Given the description of an element on the screen output the (x, y) to click on. 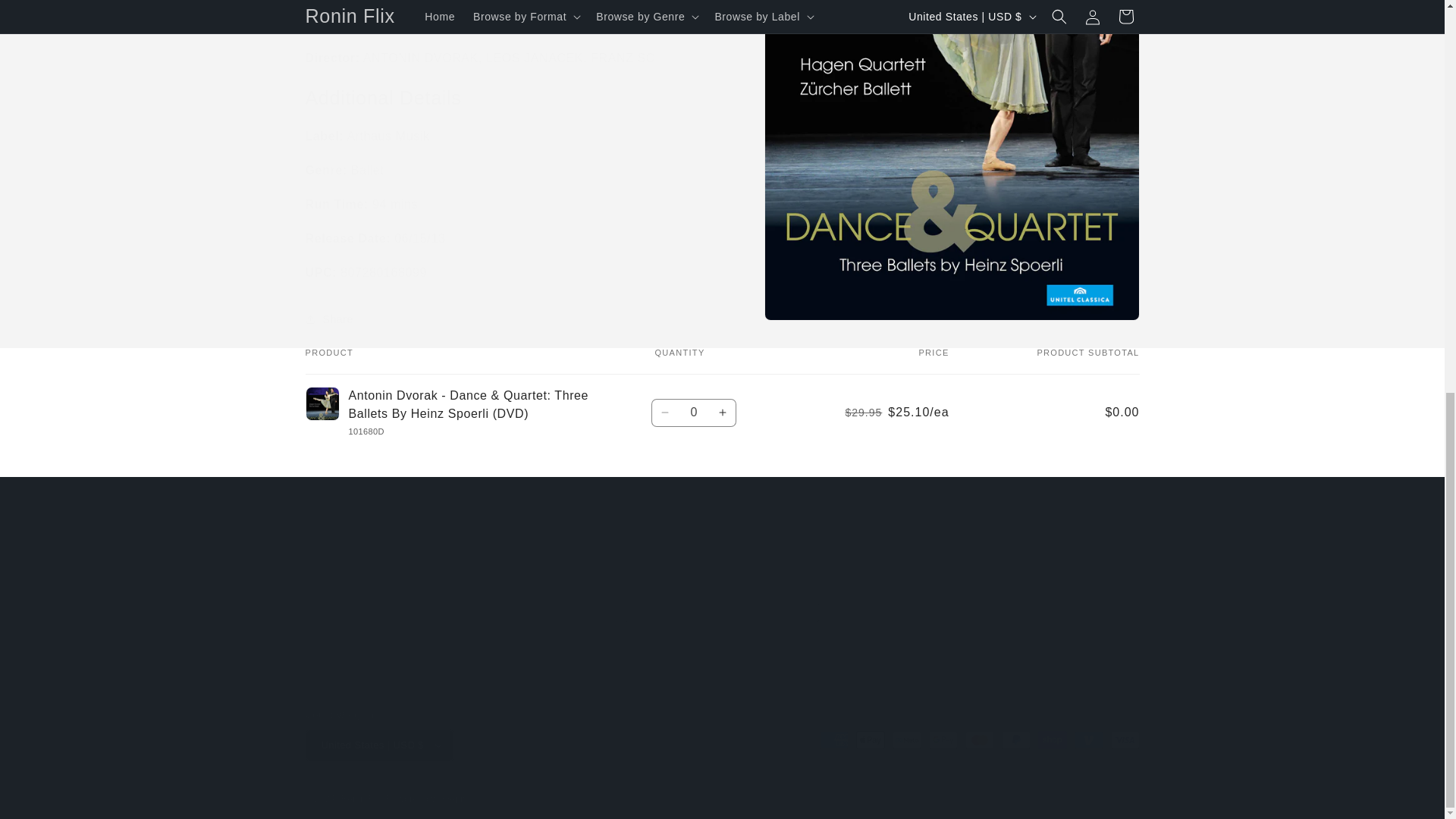
0 (693, 412)
